Given the description of an element on the screen output the (x, y) to click on. 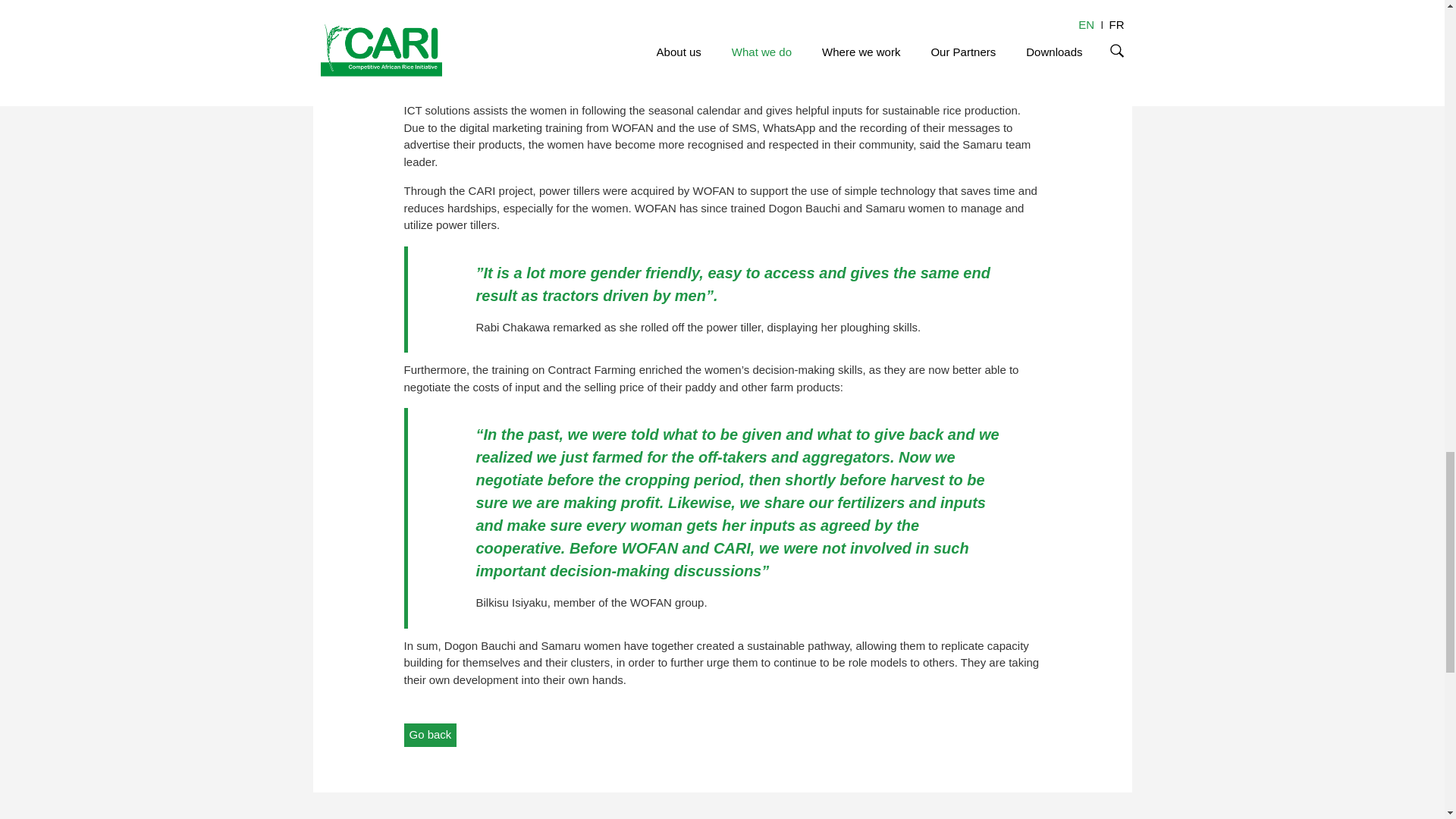
Go back (430, 734)
Go back (430, 734)
